Given the description of an element on the screen output the (x, y) to click on. 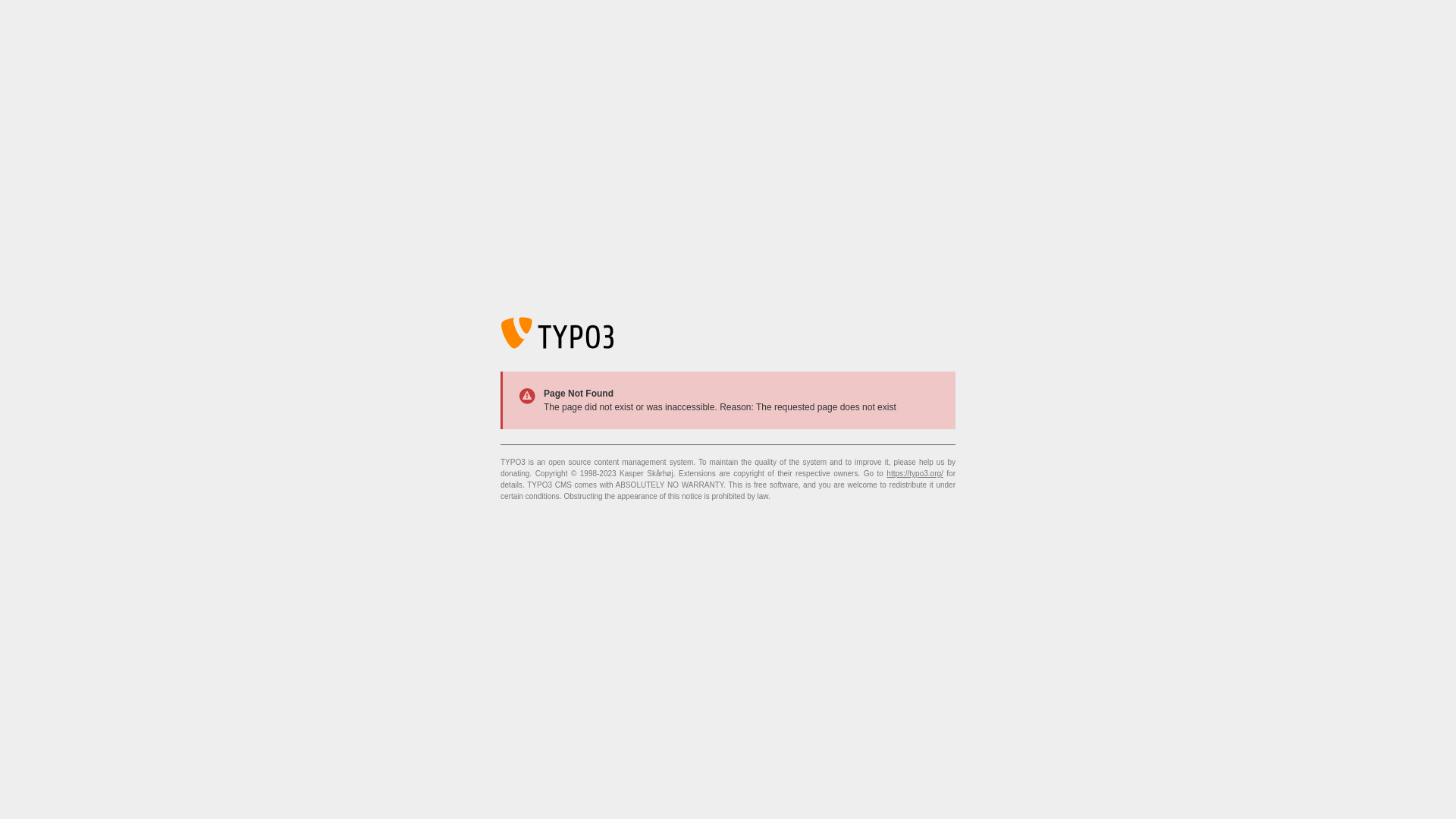
https://typo3.org/ Element type: text (914, 473)
